Given the description of an element on the screen output the (x, y) to click on. 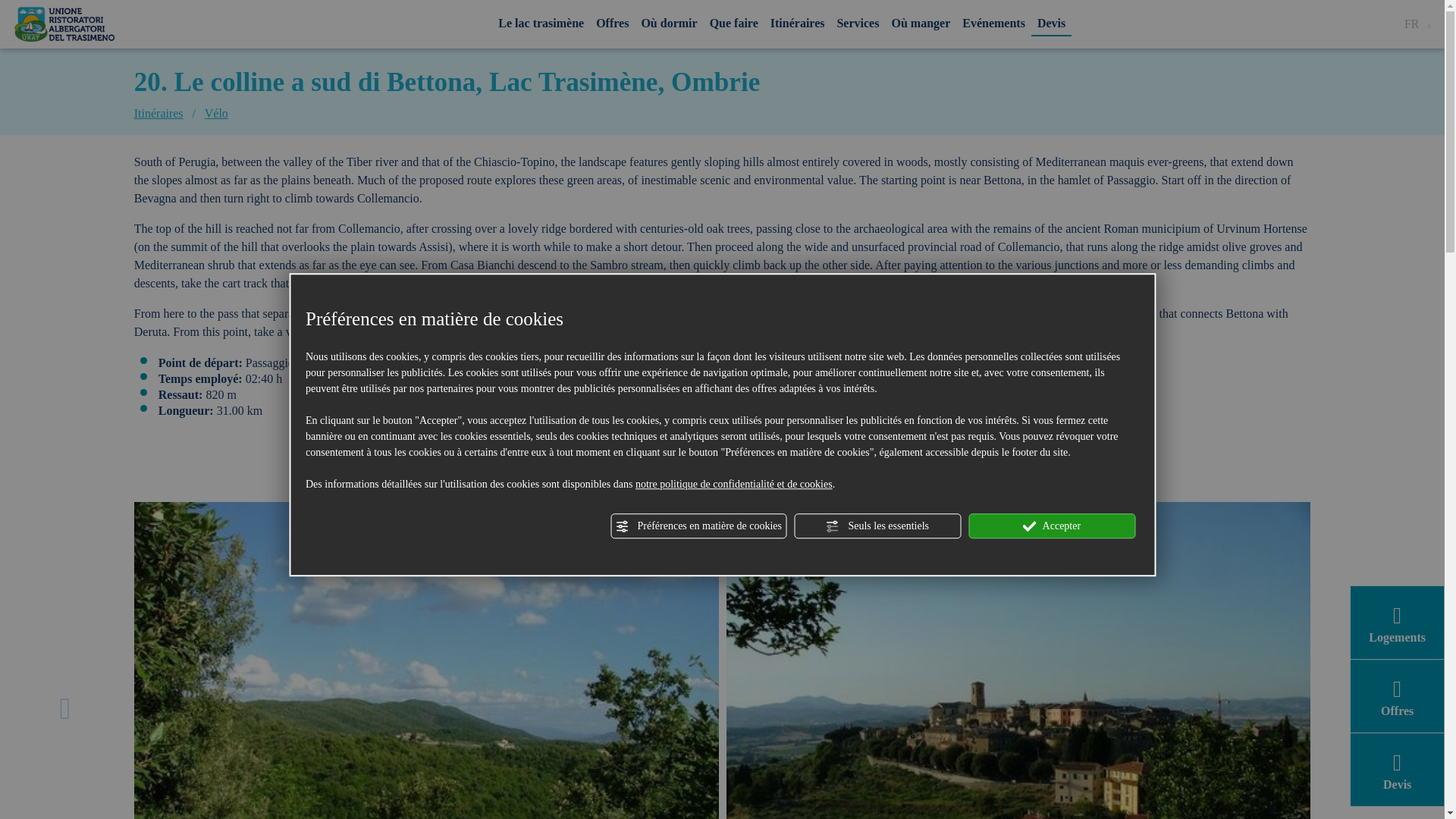
Devis (1050, 23)
Accepter (1051, 525)
Seuls les essentiels (876, 525)
Homepage (64, 24)
Que faire (734, 23)
FR  (1417, 24)
Services (857, 23)
Offres (611, 23)
